Given the description of an element on the screen output the (x, y) to click on. 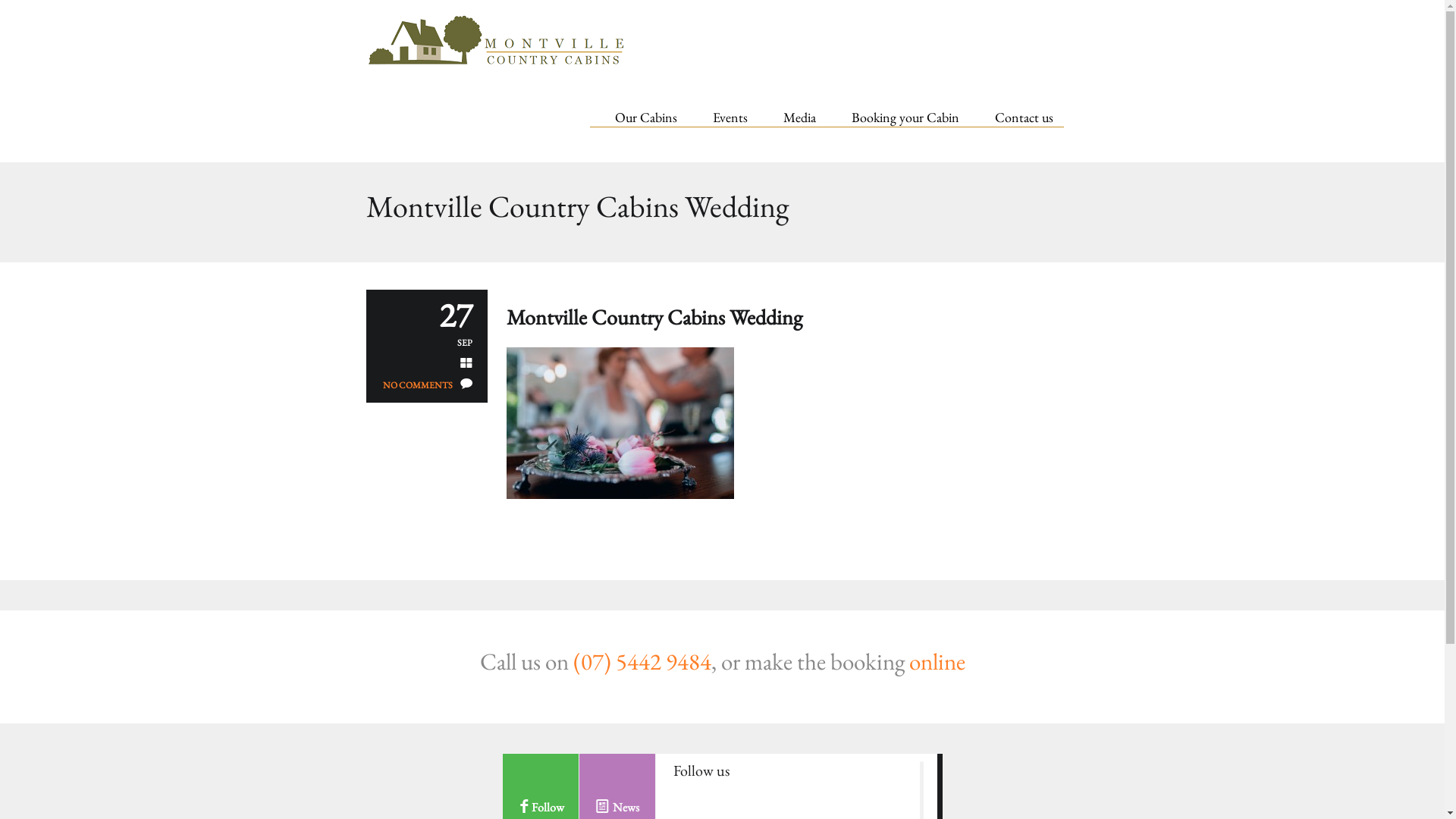
(07) 5442 9484 Element type: text (642, 661)
NO COMMENTS Element type: text (416, 385)
online Element type: text (936, 661)
